Given the description of an element on the screen output the (x, y) to click on. 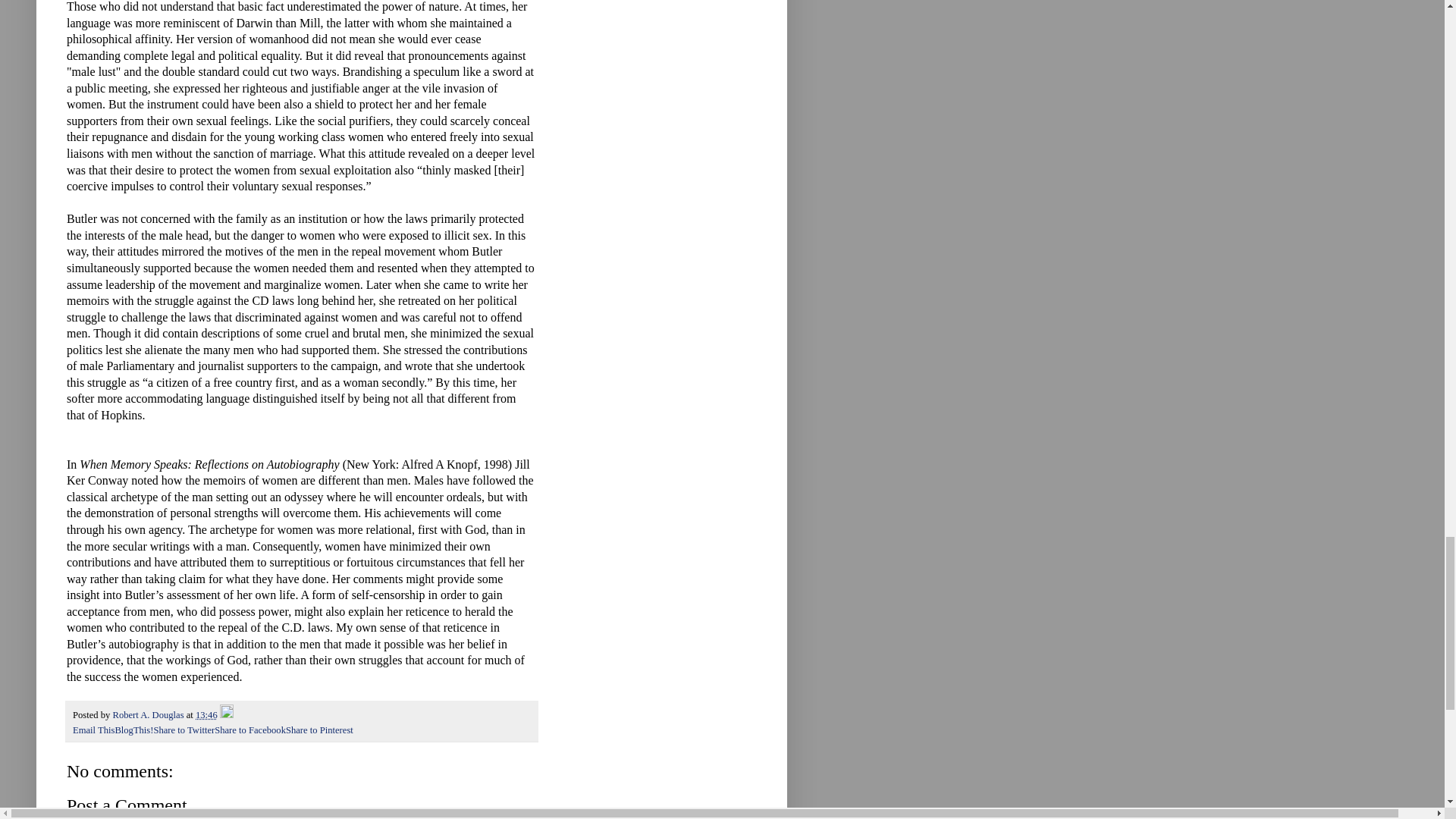
Share to Facebook (249, 729)
Share to Twitter (183, 729)
Email This (93, 729)
Edit Post (225, 715)
Email This (93, 729)
BlogThis! (133, 729)
author profile (149, 715)
Share to Pinterest (319, 729)
Share to Facebook (249, 729)
BlogThis! (133, 729)
13:46 (205, 715)
permanent link (205, 715)
Robert A. Douglas (149, 715)
Share to Pinterest (319, 729)
Share to Twitter (183, 729)
